Given the description of an element on the screen output the (x, y) to click on. 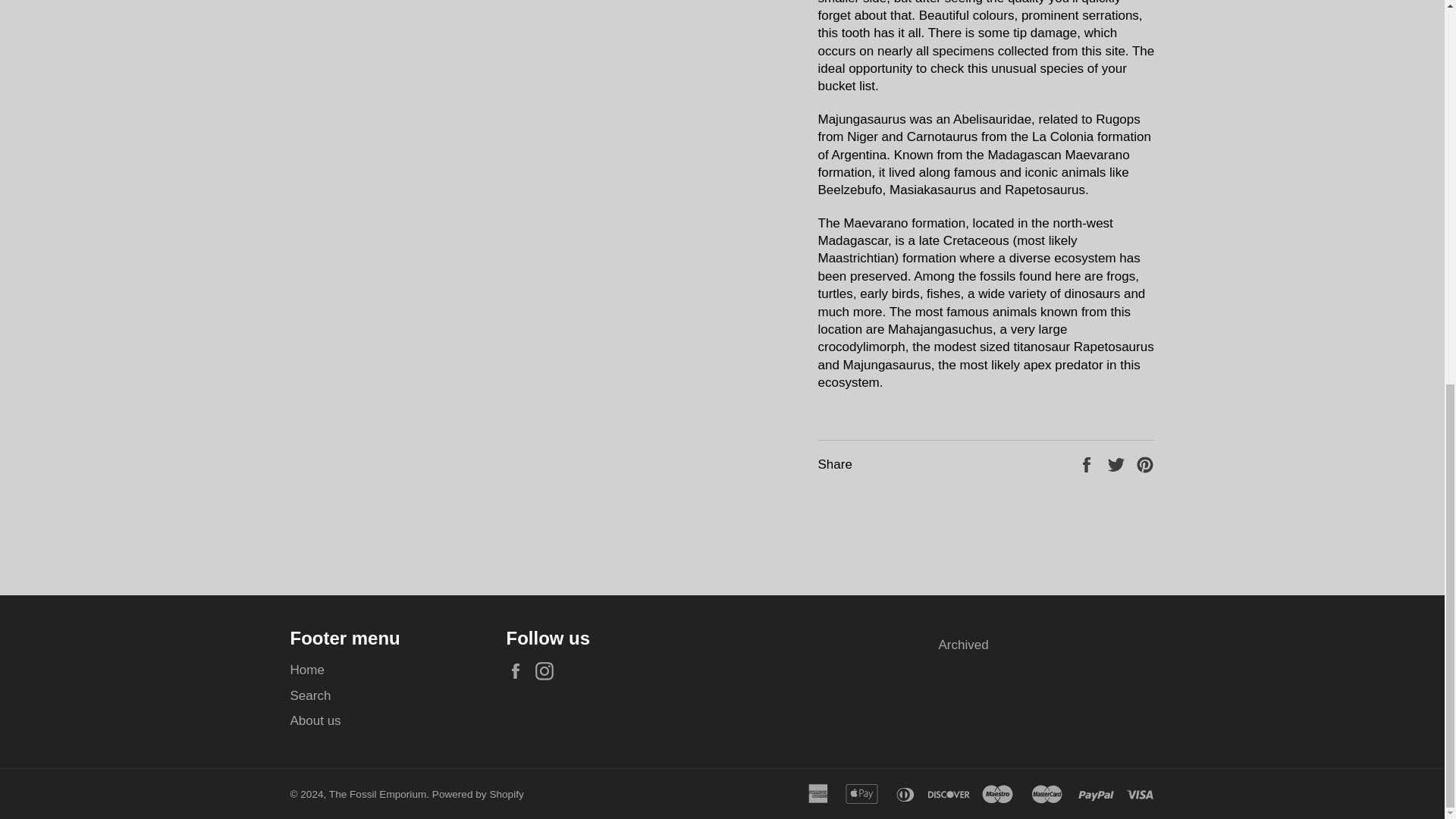
Pin on Pinterest (1144, 464)
The Fossil Emporium on Facebook (519, 670)
Share on Facebook (1088, 464)
Tweet on Twitter (1117, 464)
